Given the description of an element on the screen output the (x, y) to click on. 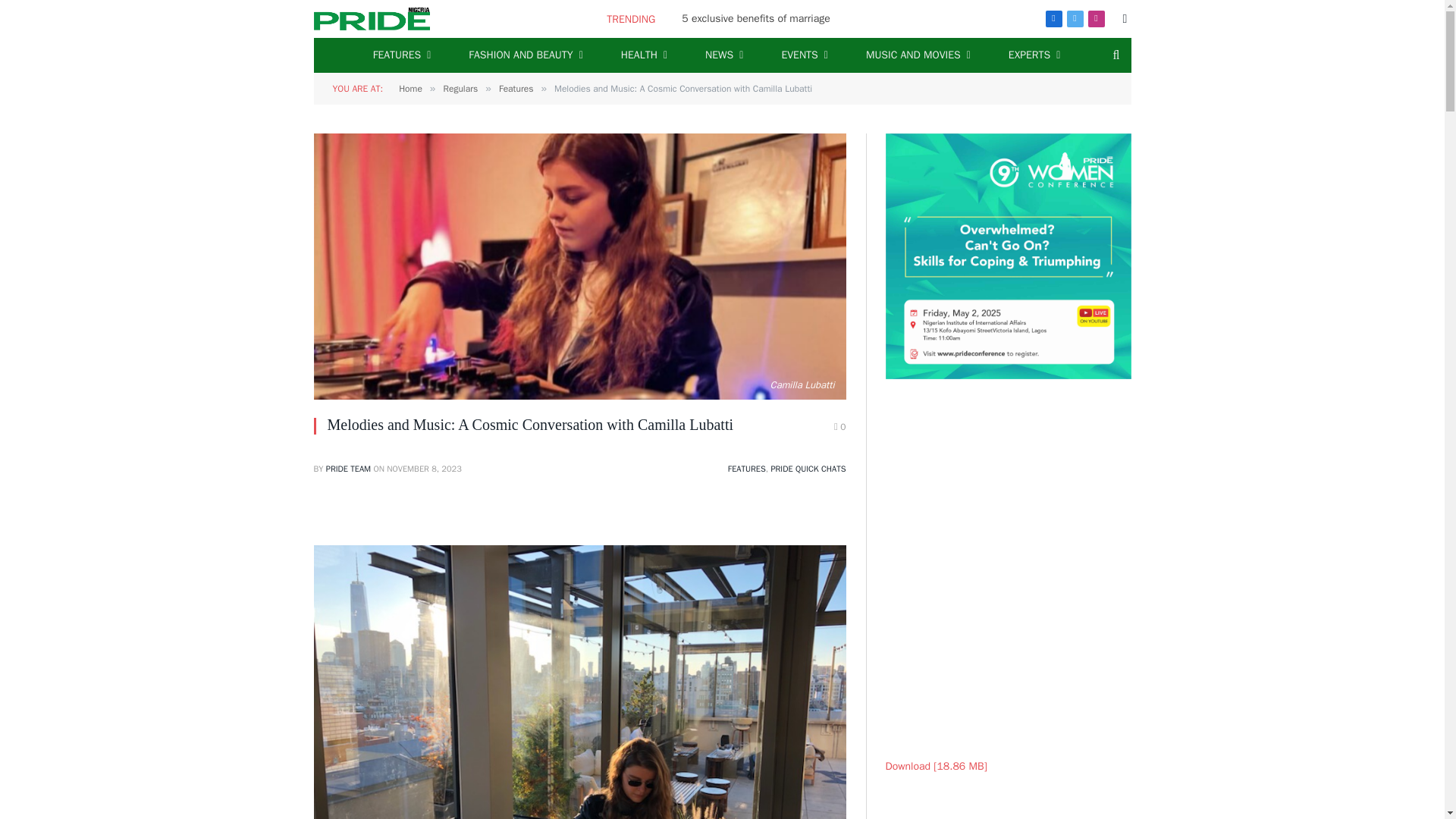
FEATURES (401, 54)
5 exclusive benefits of marriage (759, 18)
Facebook (1053, 18)
Instagram (1095, 18)
Switch to Dark Design - easier on eyes. (1123, 19)
Pride Magazine Nigeria (371, 18)
